Given the description of an element on the screen output the (x, y) to click on. 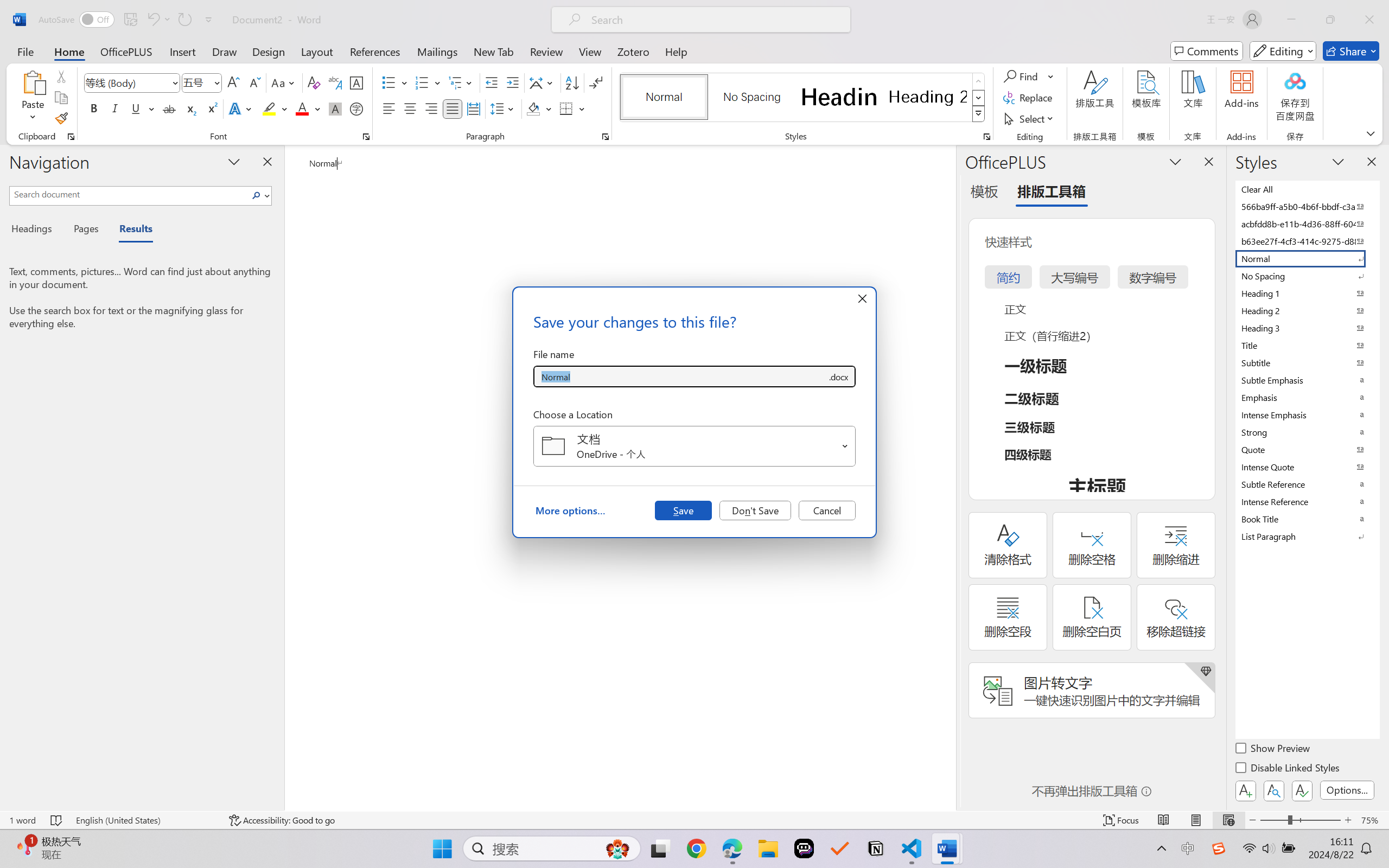
Class: NetUIScrollBar (948, 477)
View (589, 51)
Draw (224, 51)
Book Title (1306, 518)
Styles (978, 113)
Show/Hide Editing Marks (595, 82)
Replace... (1029, 97)
Mailings (437, 51)
Home (69, 51)
